Given the description of an element on the screen output the (x, y) to click on. 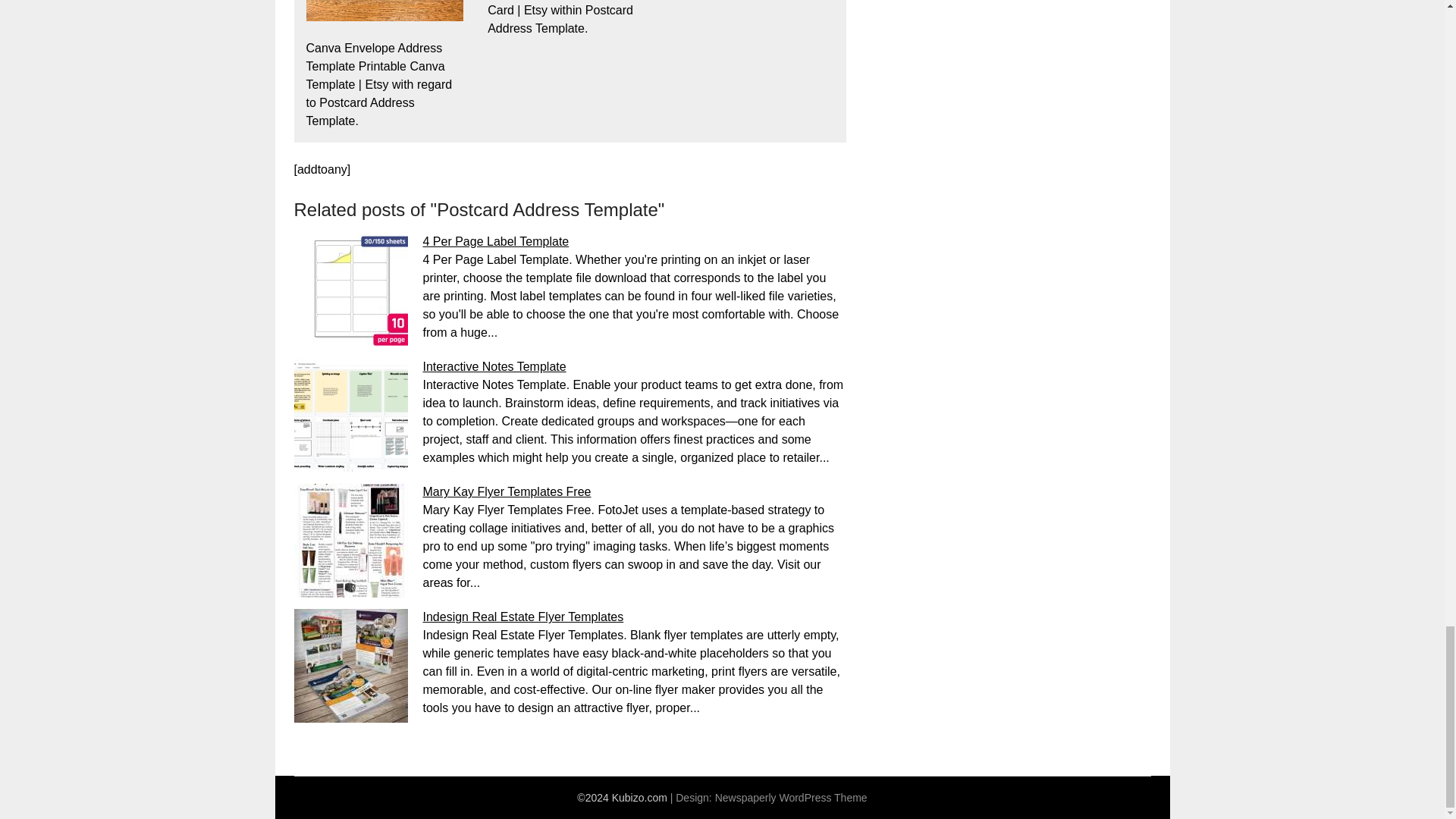
Interactive Notes Template (494, 366)
Indesign Real Estate Flyer Templates (523, 616)
Mary Kay Flyer Templates Free (507, 491)
4 Per Page Label Template (496, 241)
